Given the description of an element on the screen output the (x, y) to click on. 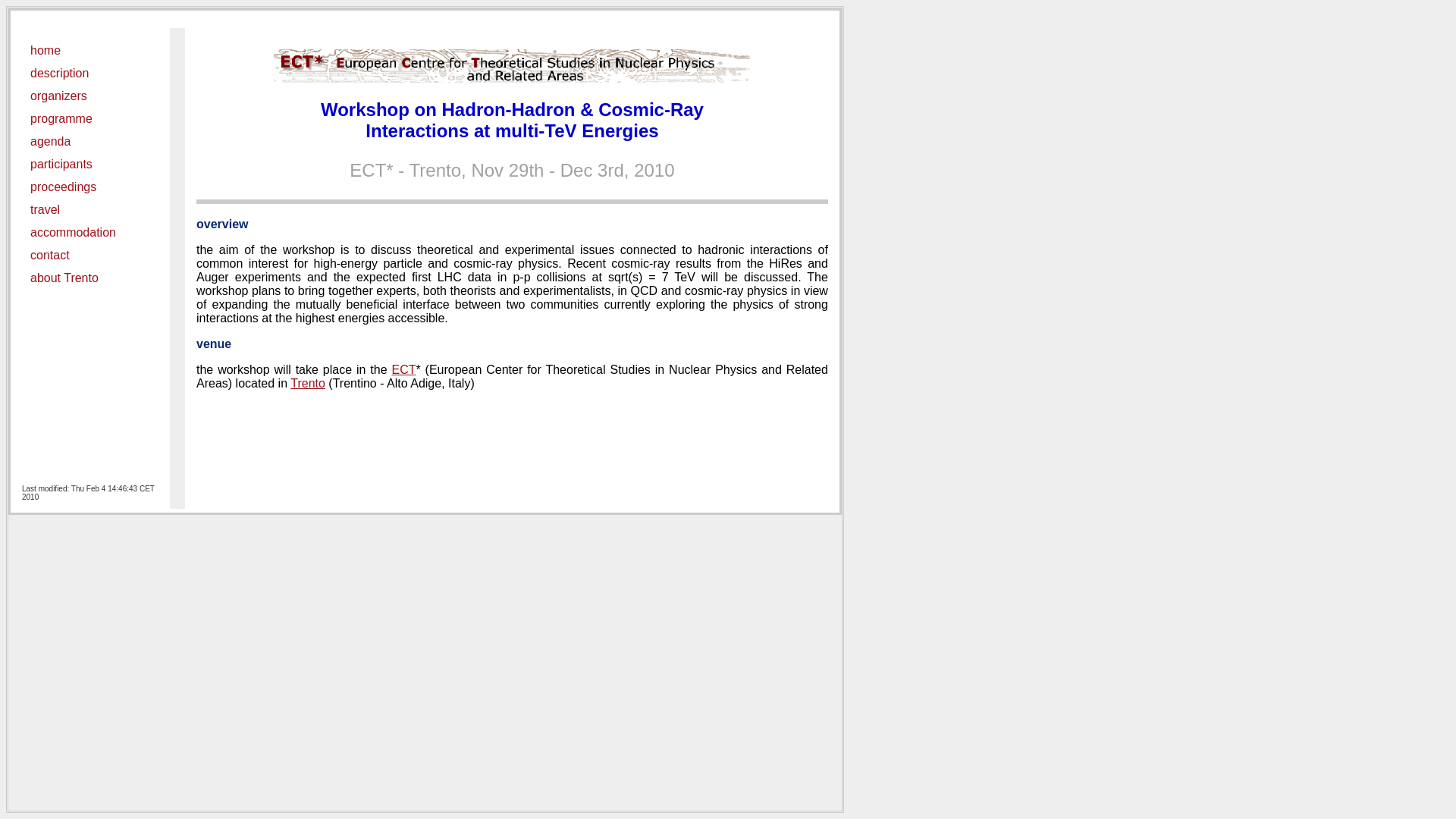
travel Element type: text (90, 209)
contact Element type: text (90, 255)
proceedings Element type: text (90, 187)
participants Element type: text (90, 164)
agenda Element type: text (90, 141)
programme Element type: text (90, 118)
organizers Element type: text (90, 96)
about Trento Element type: text (90, 278)
ECT Element type: text (403, 369)
description Element type: text (90, 73)
accommodation Element type: text (90, 232)
Trento Element type: text (307, 382)
home Element type: text (90, 50)
